Given the description of an element on the screen output the (x, y) to click on. 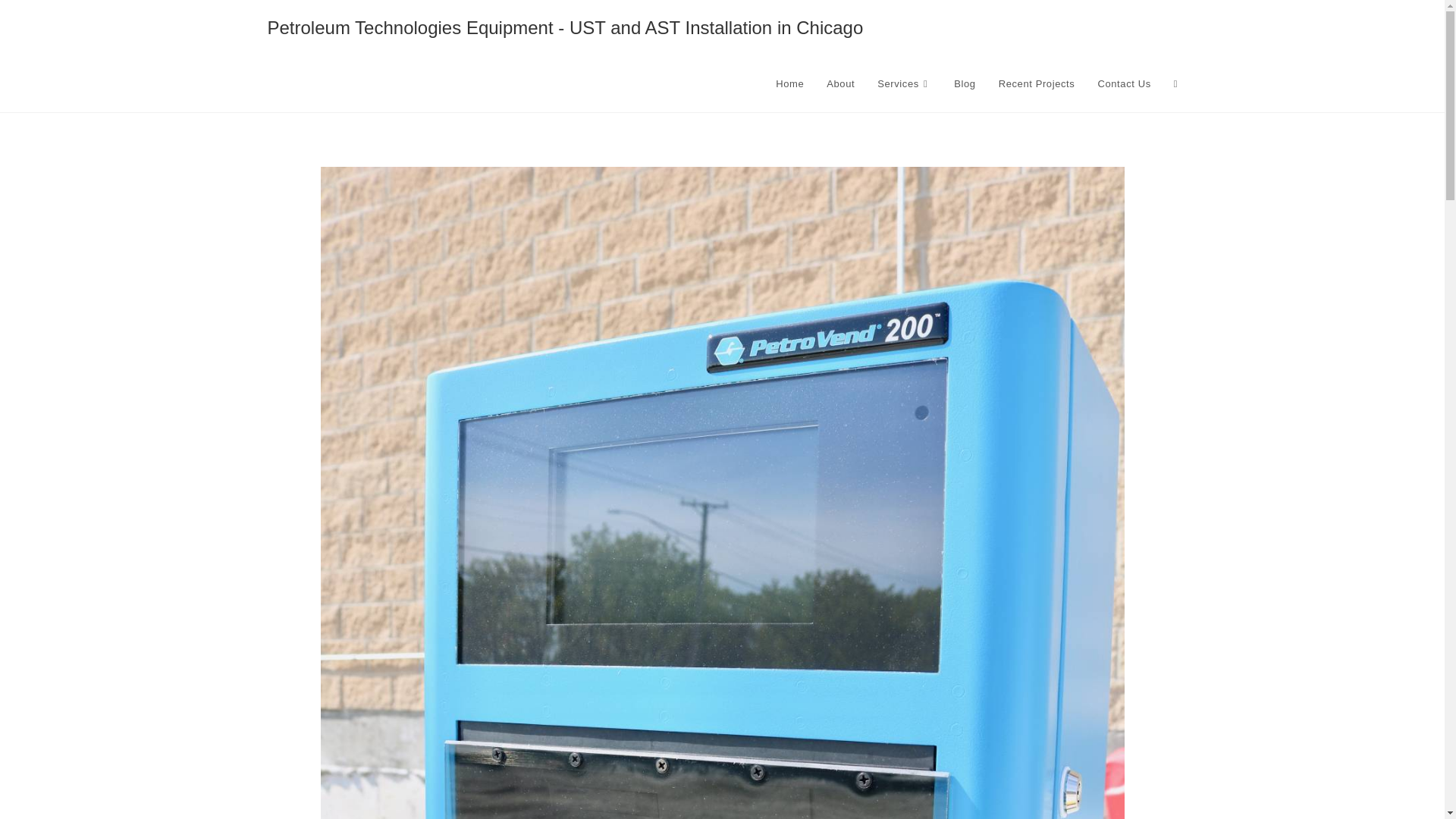
Recent Projects (1036, 84)
Home (789, 84)
Services (904, 84)
Contact Us (1123, 84)
About (840, 84)
